Given the description of an element on the screen output the (x, y) to click on. 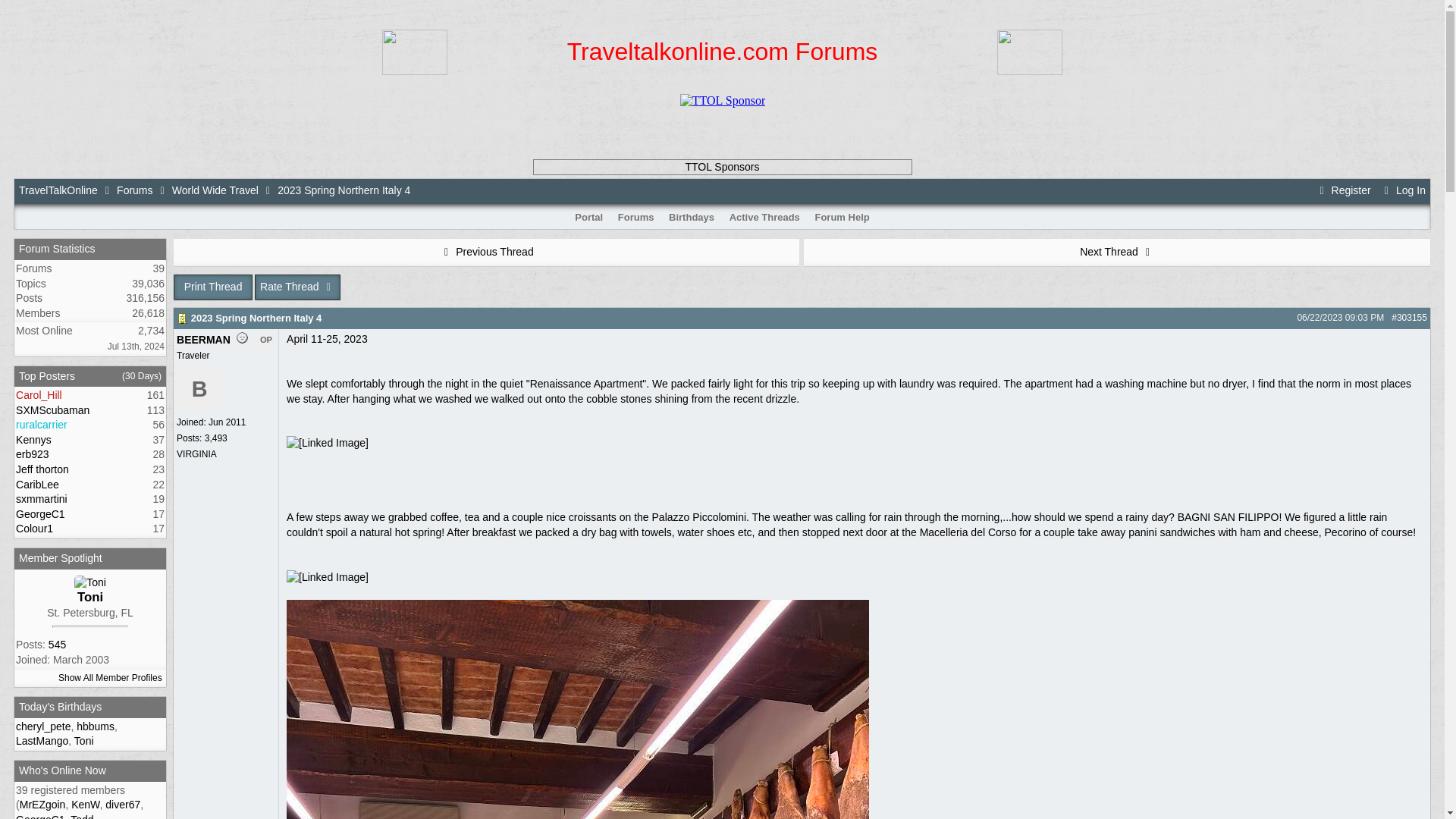
Colour1 (34, 528)
Log In (1402, 190)
User was last active . (81, 816)
MrEZgoin (42, 804)
Jeff thorton (42, 469)
Show All Member Profiles (109, 677)
Forum Help (841, 217)
World Wide Travel (215, 190)
User was last active . (40, 816)
User was last active . (85, 804)
